Given the description of an element on the screen output the (x, y) to click on. 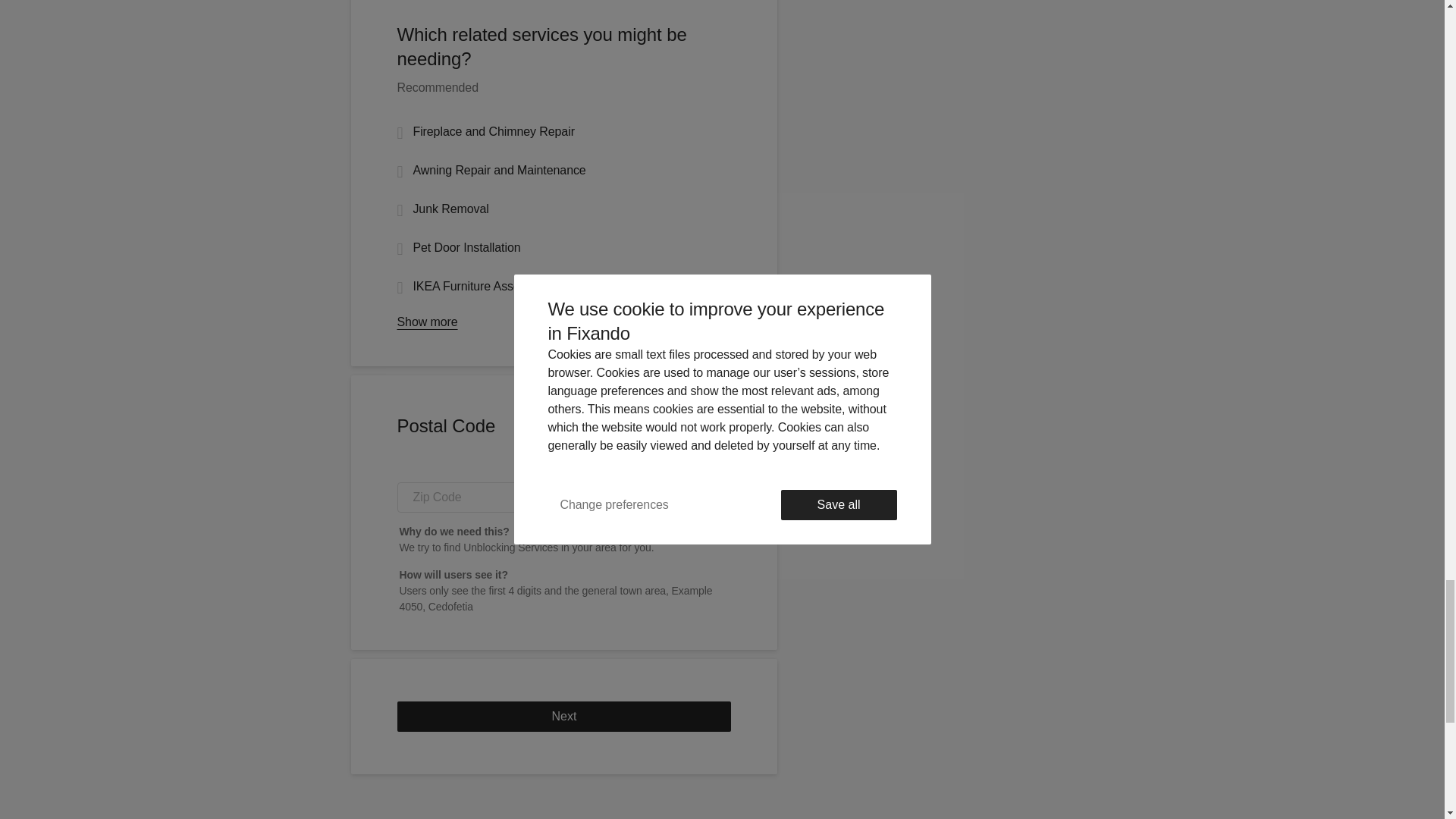
Next (564, 716)
